Given the description of an element on the screen output the (x, y) to click on. 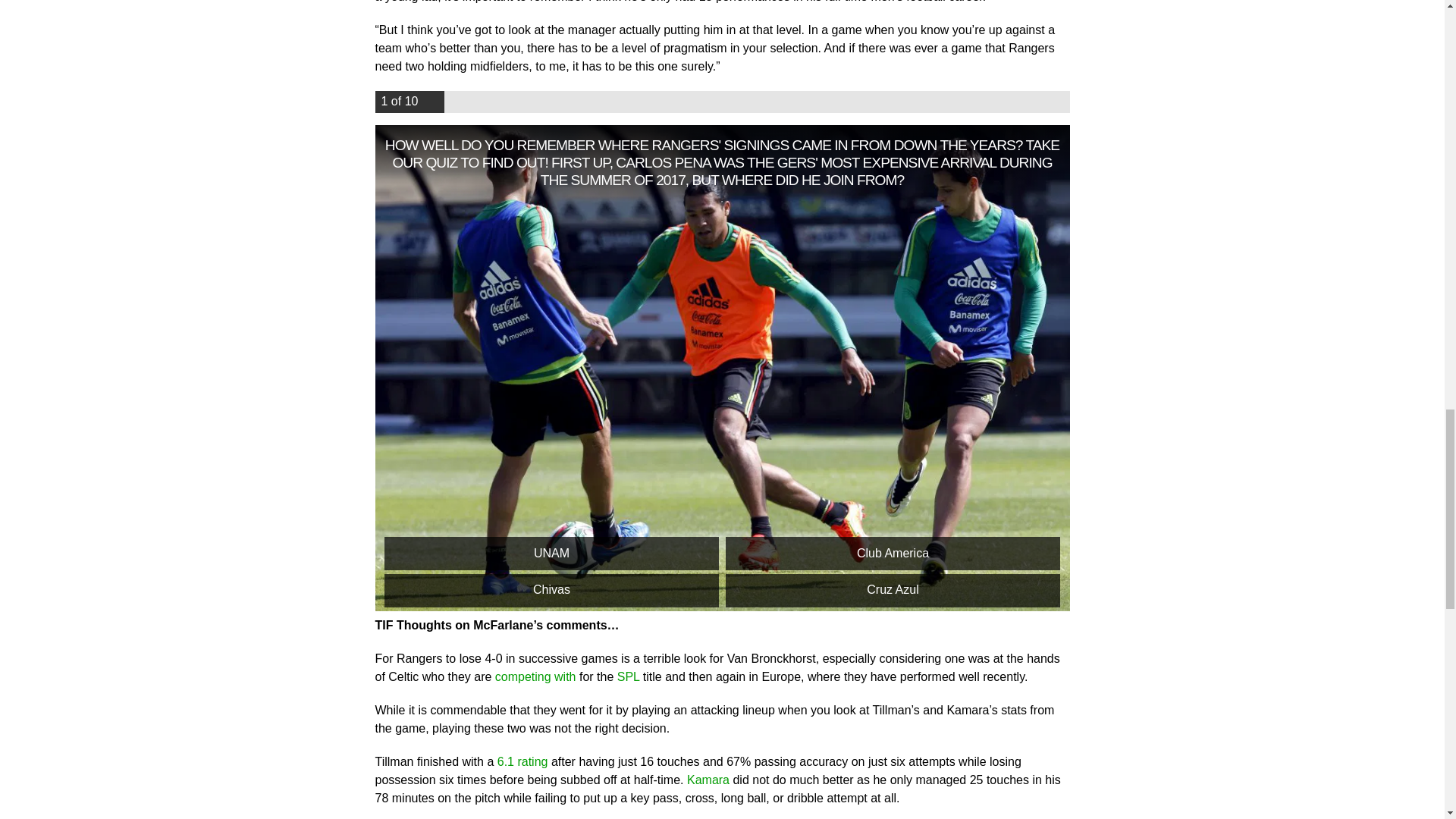
Chivas (551, 590)
UNAM (551, 553)
UNAM (551, 553)
Chivas (551, 590)
Club America (892, 553)
Cruz Azul (892, 590)
Club America (892, 553)
Cruz Azul (892, 590)
